Given the description of an element on the screen output the (x, y) to click on. 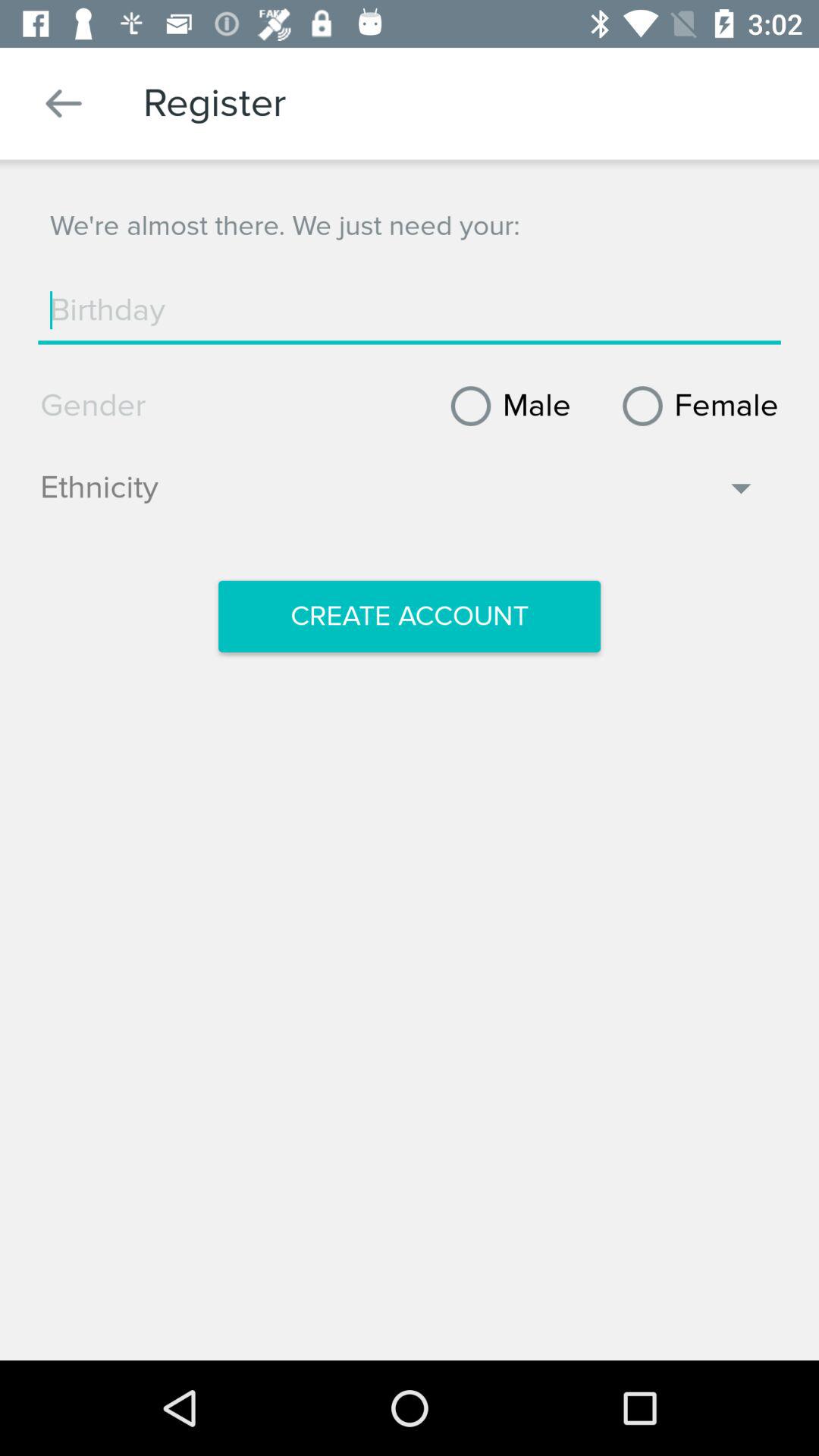
turn off the item next to male item (694, 405)
